Given the description of an element on the screen output the (x, y) to click on. 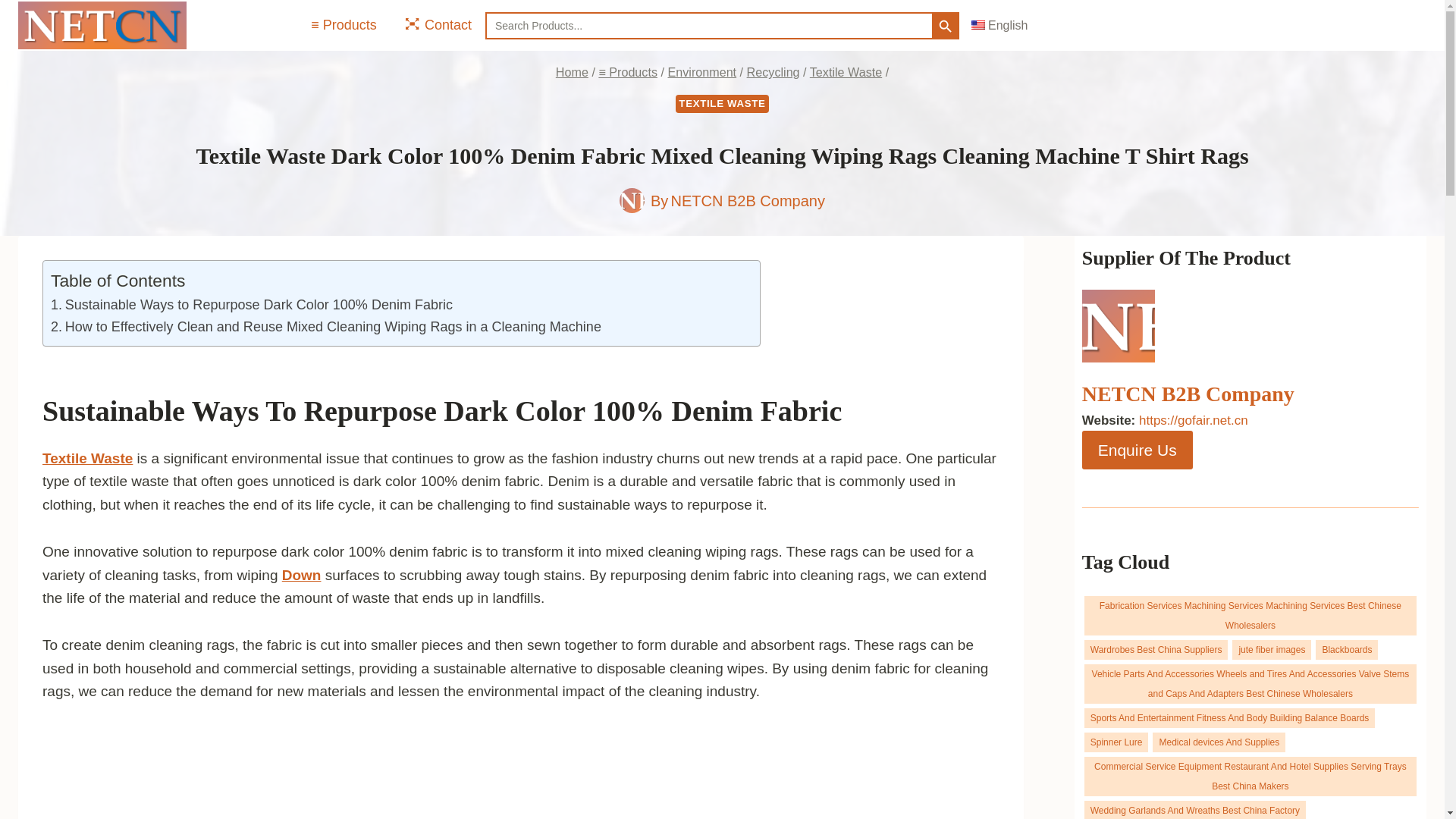
Search Button (945, 25)
Environment (701, 71)
Down (301, 575)
English (999, 25)
Home (572, 71)
Contact (437, 24)
Textile Waste (87, 458)
Recycling (772, 71)
TEXTILE WASTE (721, 104)
Textile Waste (845, 71)
Denim (715, 410)
NETCN B2B Company (748, 200)
Fabric (801, 410)
